Given the description of an element on the screen output the (x, y) to click on. 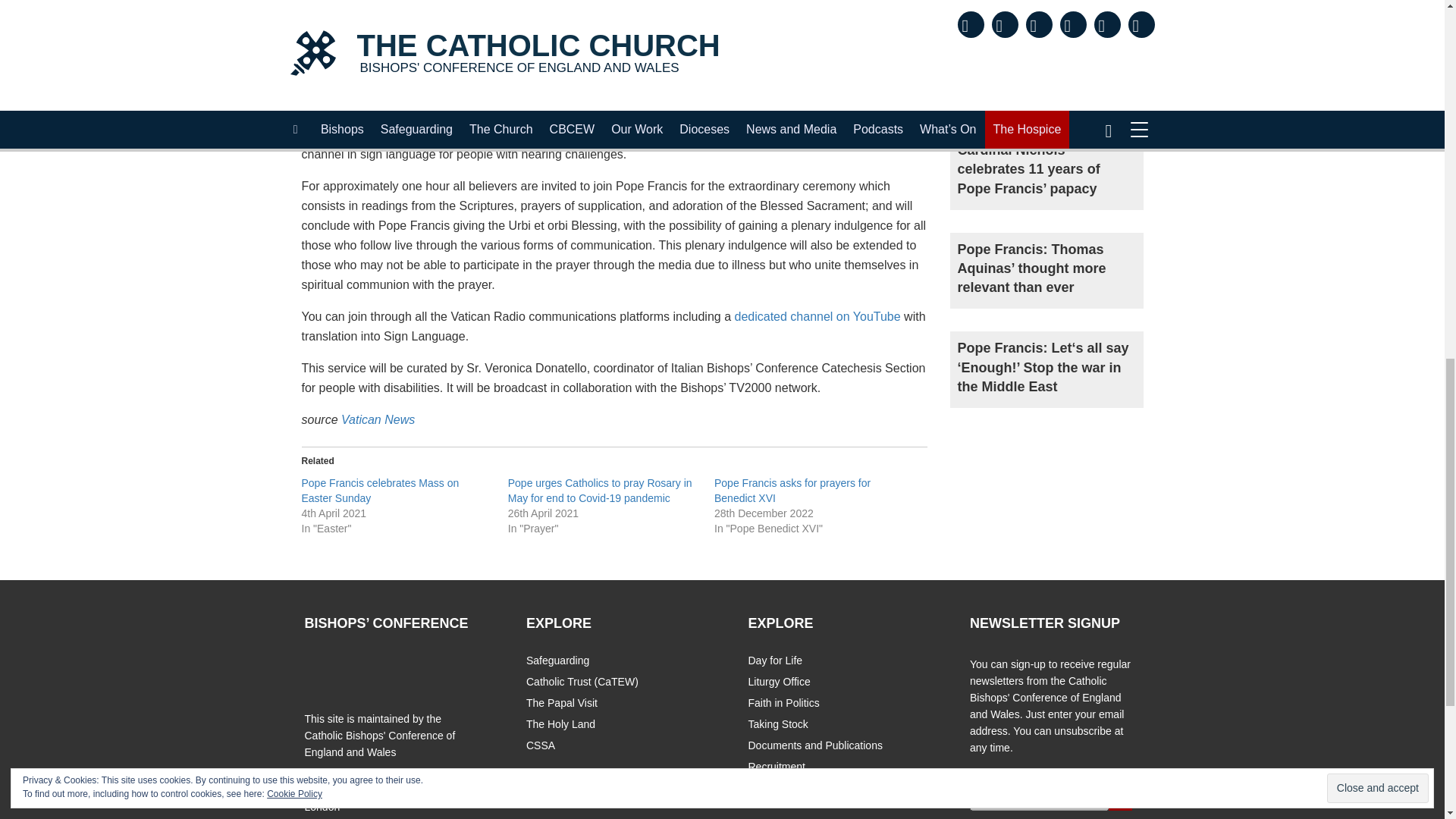
Go (1120, 799)
Pope Francis celebrates Mass on Easter Sunday (380, 490)
Pope Francis asks for prayers for Benedict XVI (792, 490)
